Given the description of an element on the screen output the (x, y) to click on. 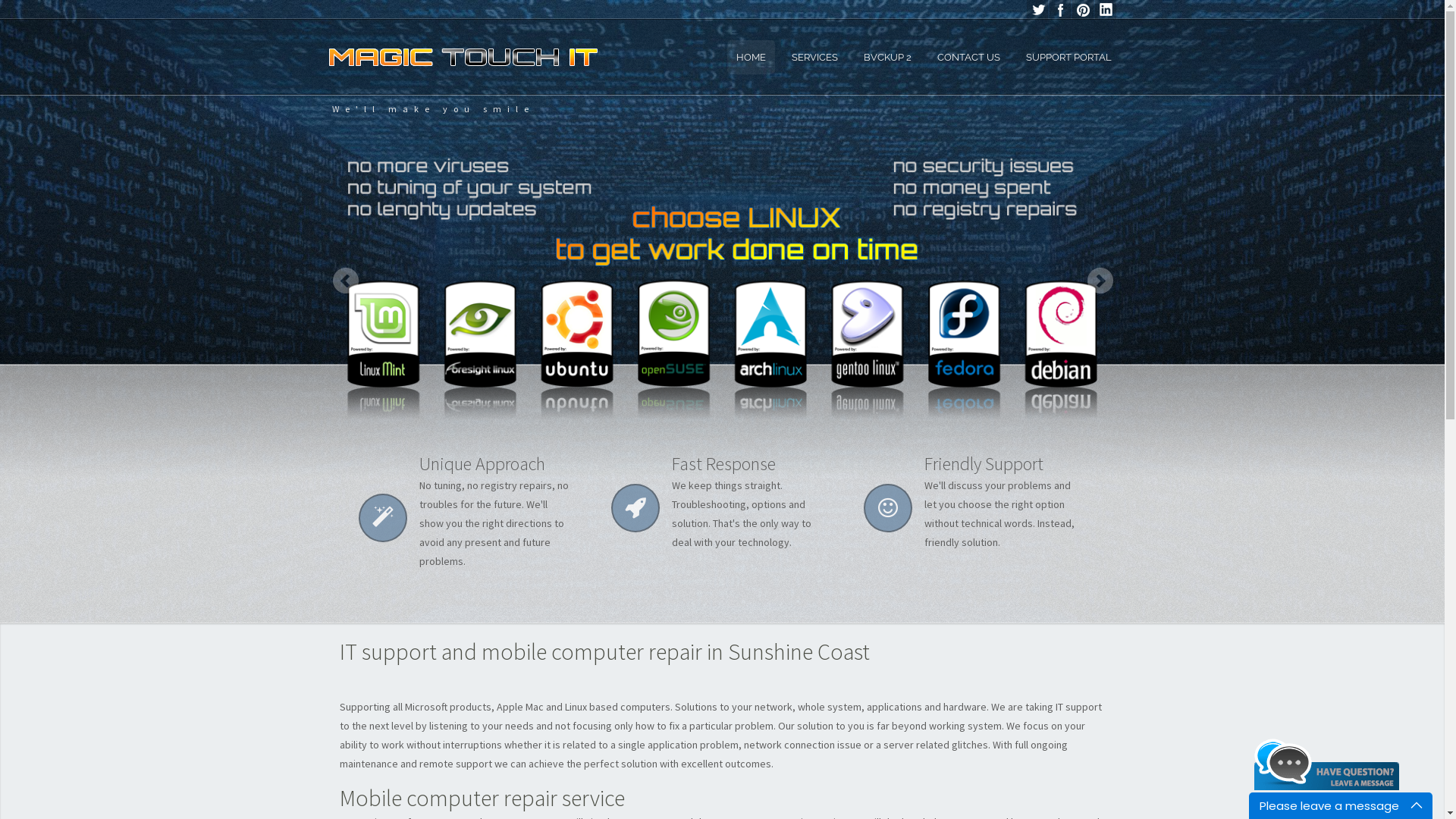
Prev Element type: text (344, 280)
BVCKUP 2 Element type: text (886, 57)
Maximize Element type: hover (1419, 805)
HOME Element type: text (750, 57)
Next Element type: text (1099, 280)
SERVICES Element type: text (814, 57)
CONTACT US Element type: text (968, 57)
SUPPORT PORTAL Element type: text (1068, 57)
